Given the description of an element on the screen output the (x, y) to click on. 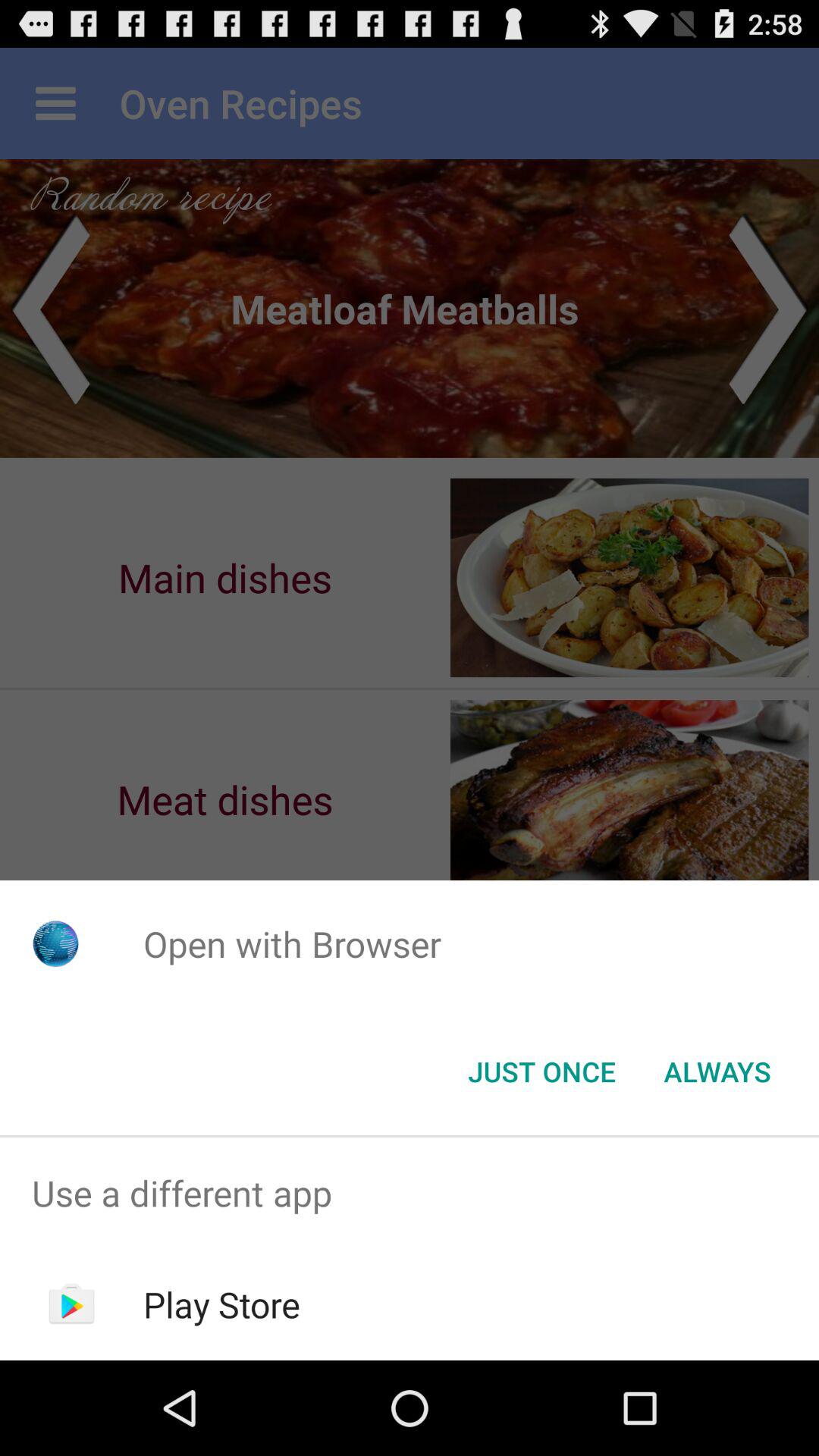
turn on the icon to the left of the always (541, 1071)
